Given the description of an element on the screen output the (x, y) to click on. 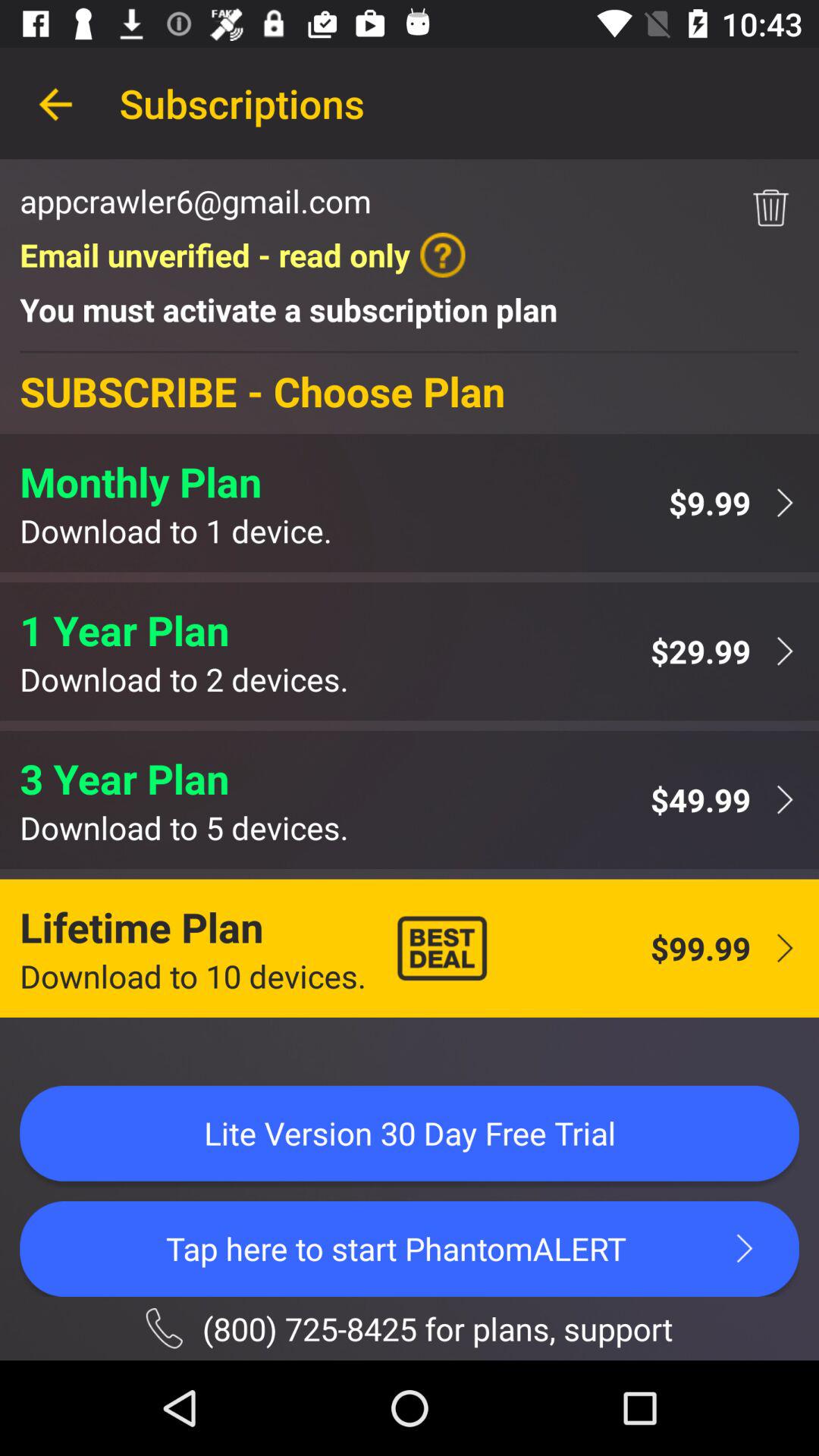
select item next to the email unverified read app (770, 207)
